Given the description of an element on the screen output the (x, y) to click on. 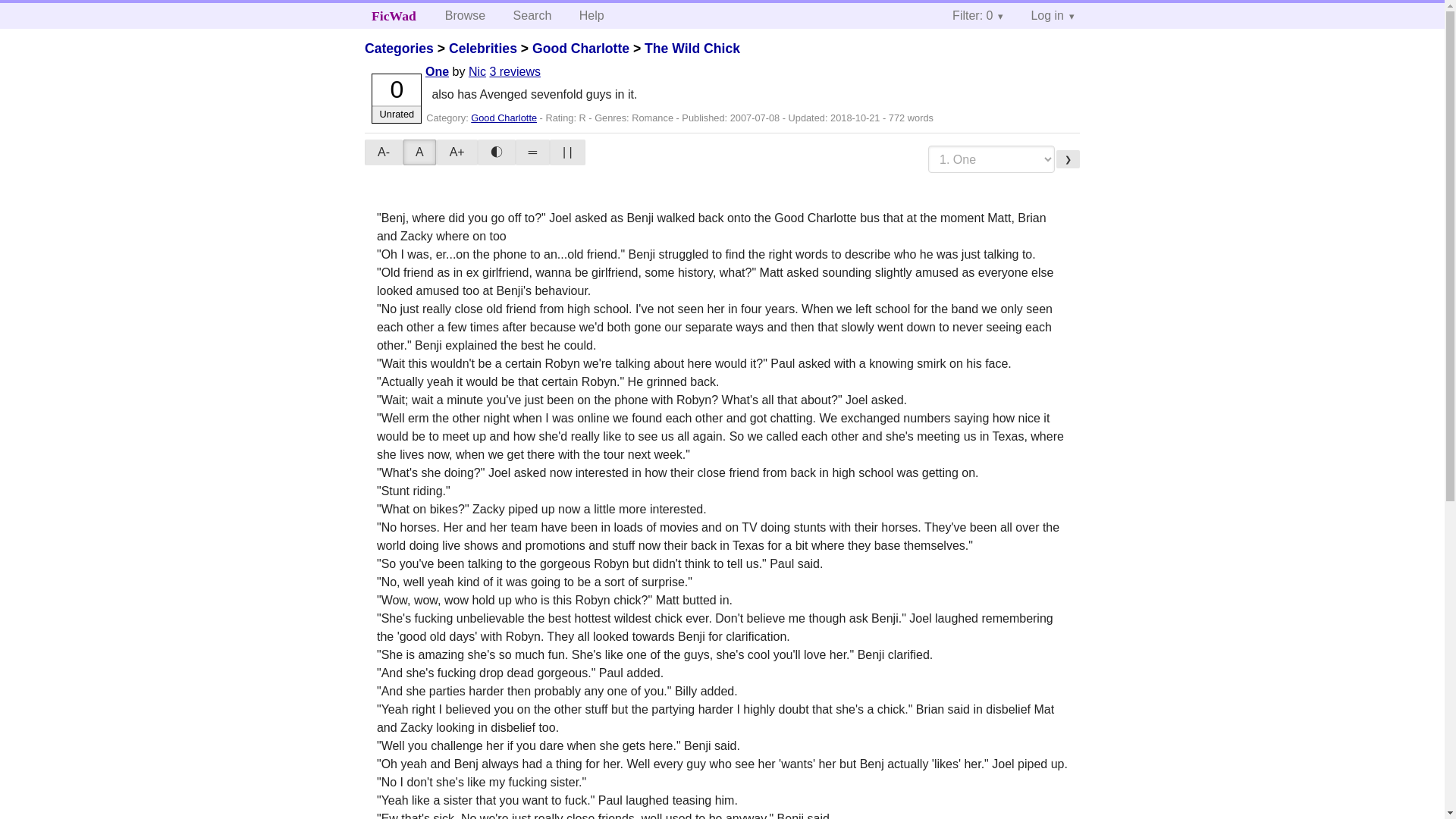
Browse (464, 15)
Filter: 0 (977, 15)
Search (532, 15)
fresh-picked original and fan fiction (393, 15)
Nic (477, 71)
3 reviews (514, 71)
FicWad (393, 15)
A- (384, 152)
One (436, 71)
Log in (1051, 15)
A (419, 152)
Celebrities (482, 48)
Good Charlotte (503, 117)
Help (591, 15)
Good Charlotte (580, 48)
